Given the description of an element on the screen output the (x, y) to click on. 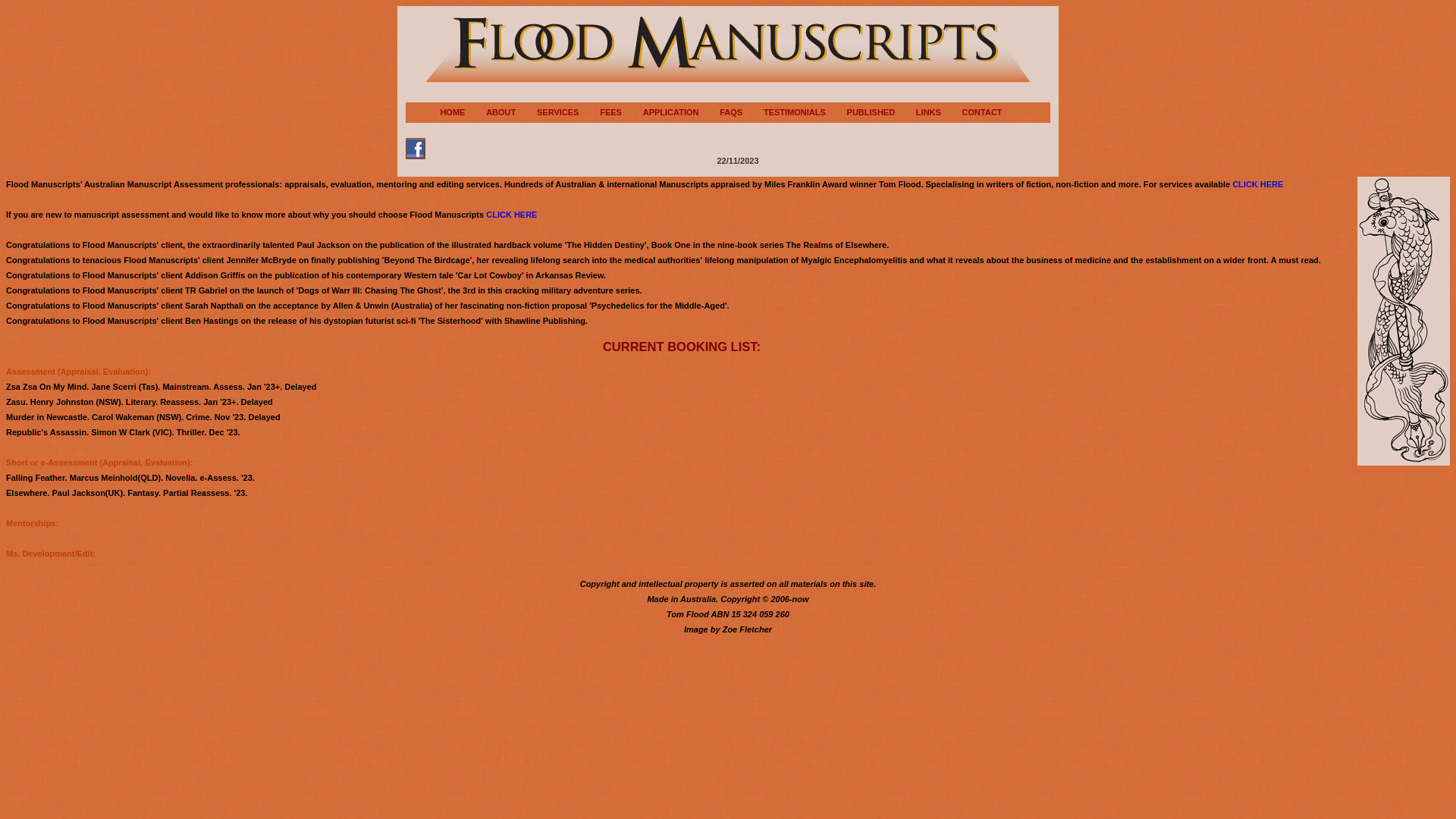
CONTACT Element type: text (991, 111)
PUBLISHED Element type: text (880, 111)
TESTIMONIALS Element type: text (803, 111)
CLICK HERE Element type: text (511, 214)
LINKS Element type: text (938, 111)
FEES Element type: text (619, 111)
ABOUT Element type: text (510, 111)
SERVICES Element type: text (566, 111)
CLICK HERE Element type: text (1257, 183)
APPLICATION Element type: text (680, 111)
HOME Element type: text (461, 111)
FAQS Element type: text (740, 111)
